Given the description of an element on the screen output the (x, y) to click on. 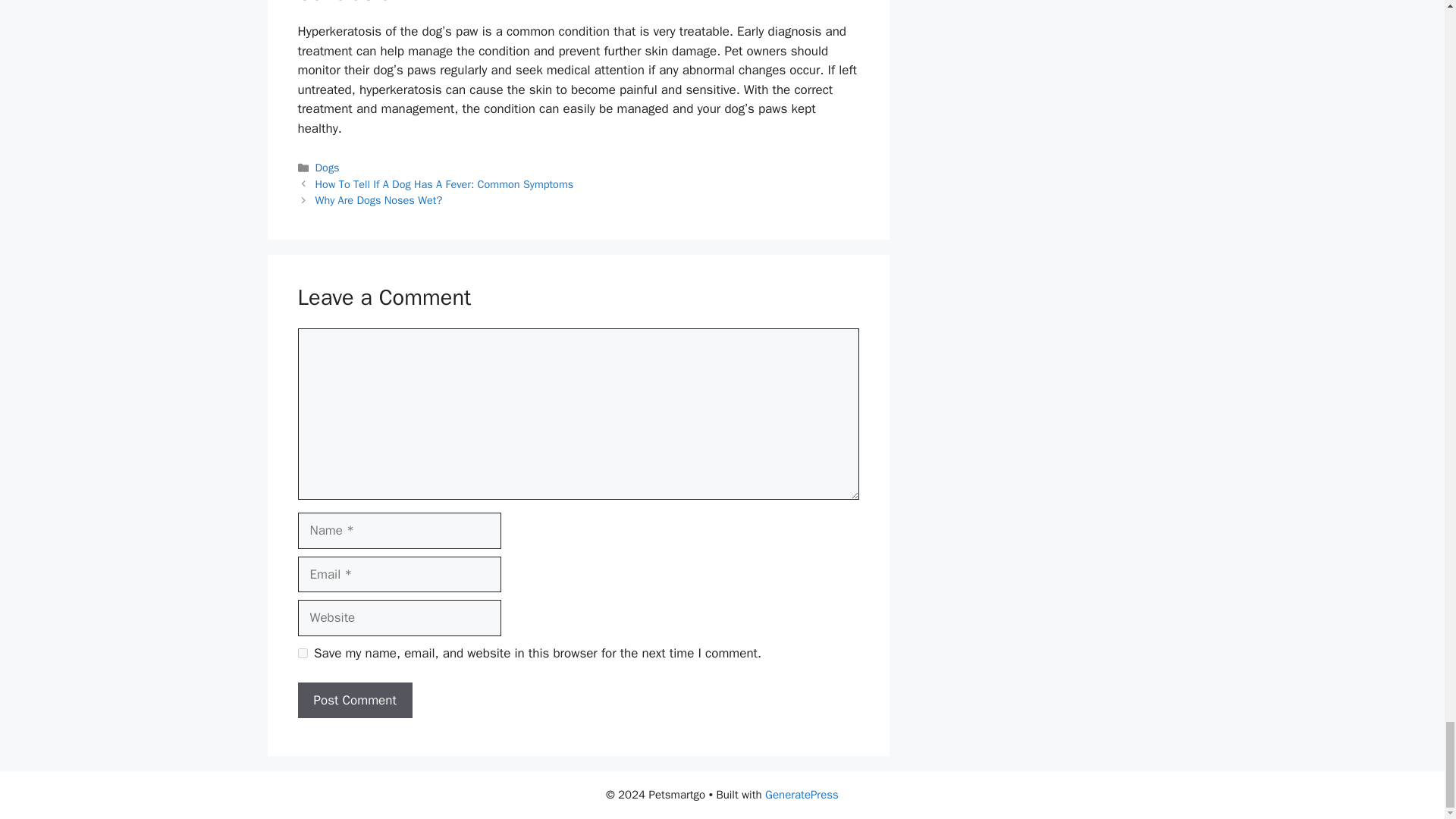
How To Tell If A Dog Has A Fever: Common Symptoms (444, 183)
Dogs (327, 167)
Why Are Dogs Noses Wet? (378, 200)
Post Comment (354, 700)
yes (302, 653)
Post Comment (354, 700)
